Given the description of an element on the screen output the (x, y) to click on. 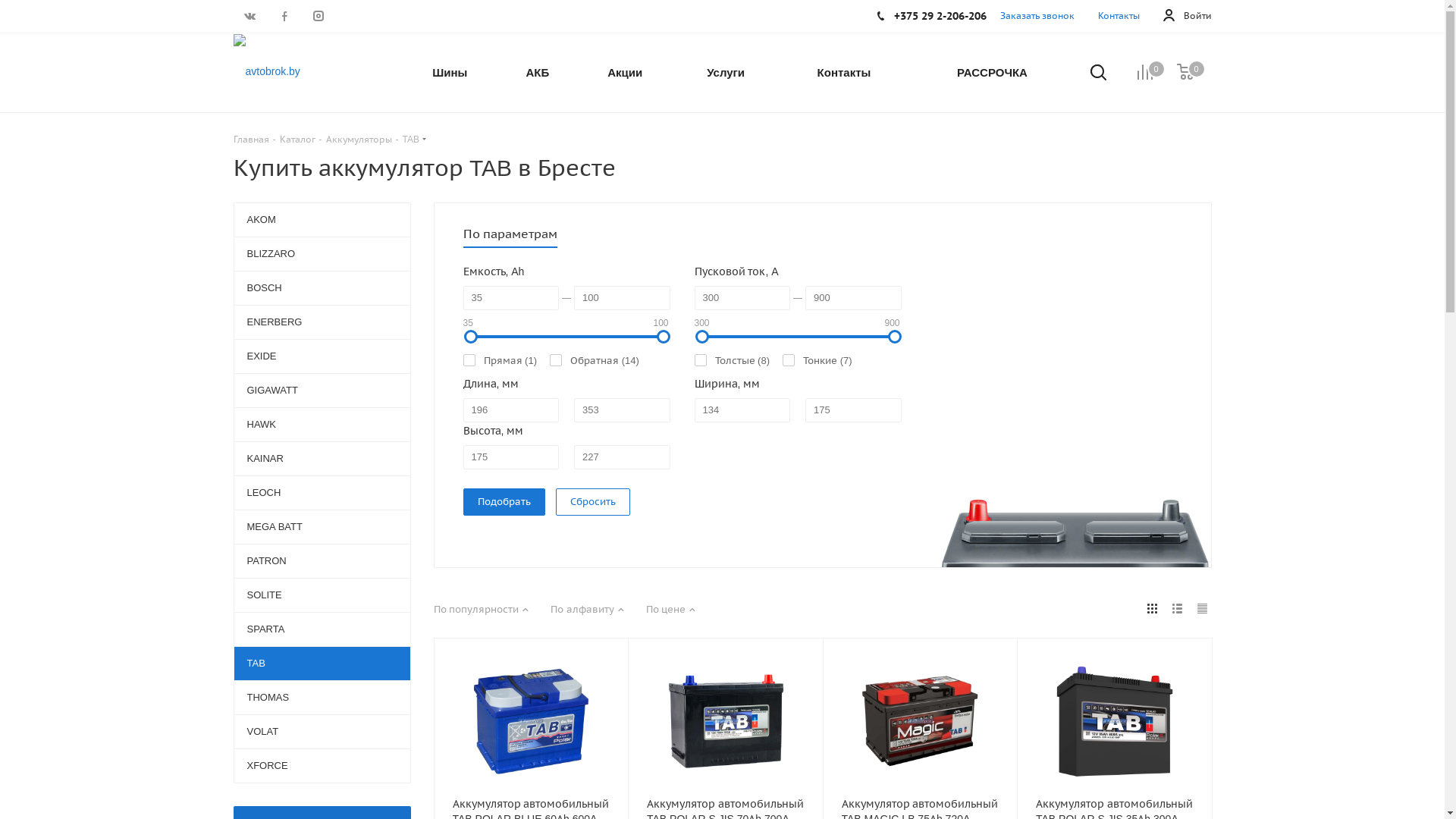
MEGA BATT Element type: text (322, 526)
AKOM Element type: text (322, 219)
THOMAS Element type: text (322, 697)
EXIDE Element type: text (322, 355)
BOSCH Element type: text (322, 287)
LEOCH Element type: text (322, 492)
BLIZZARO Element type: text (322, 253)
Y Element type: text (4, 4)
SOLITE Element type: text (322, 594)
TAB Element type: text (322, 663)
VOLAT Element type: text (322, 731)
avtobrok.by Element type: hover (266, 71)
XFORCE Element type: text (322, 765)
GIGAWATT Element type: text (322, 390)
PATRON Element type: text (322, 560)
KAINAR Element type: text (322, 458)
ENERBERG Element type: text (322, 321)
HAWK Element type: text (322, 424)
SPARTA Element type: text (322, 628)
